Given the description of an element on the screen output the (x, y) to click on. 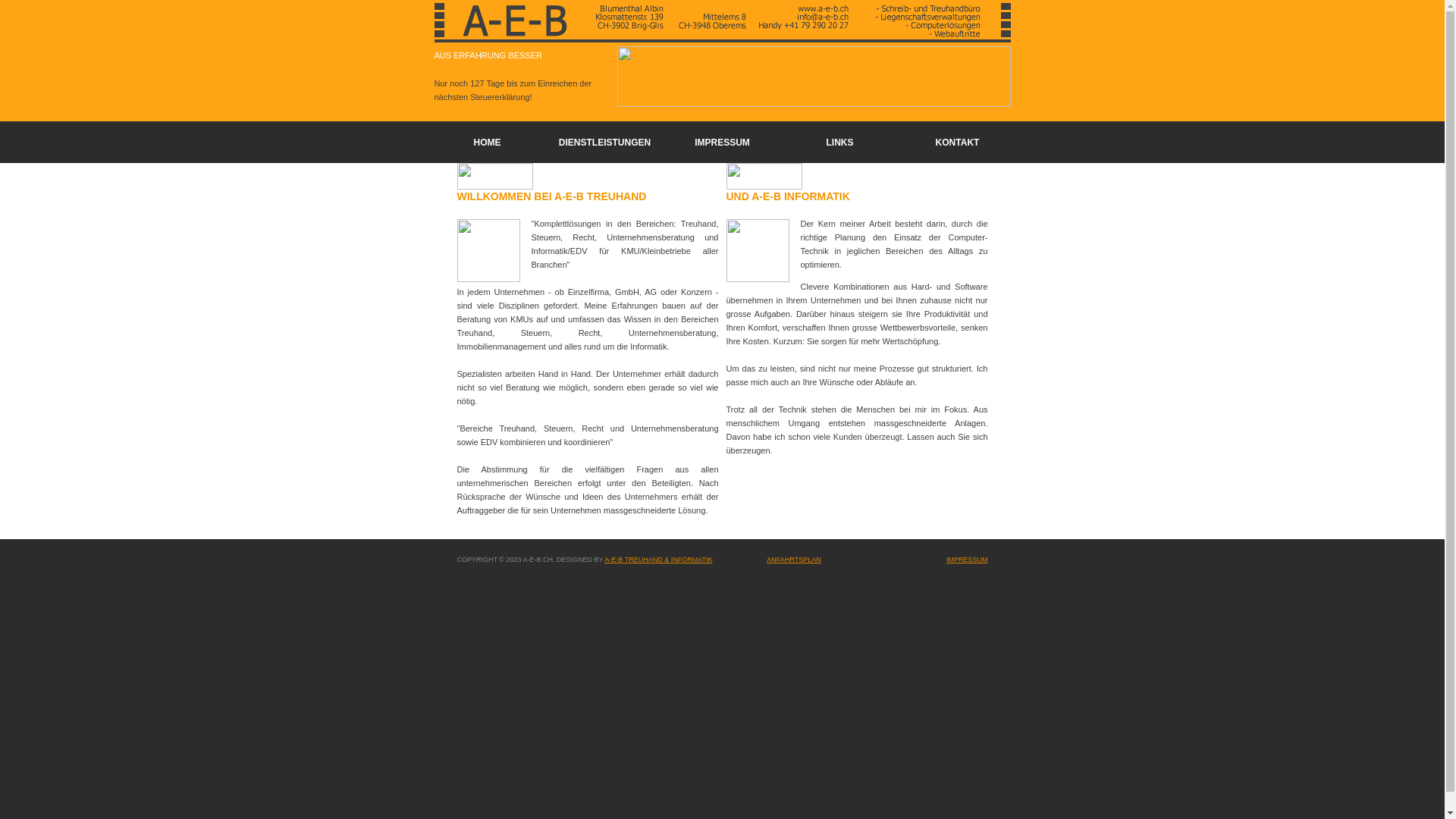
ANFAHRTSPLAN Element type: text (793, 559)
LINKS Element type: text (839, 141)
HOME Element type: text (486, 141)
A-E-B TREUHAND & INFORMATIK Element type: text (658, 559)
IMPRESSUM Element type: text (721, 141)
IMPRESSUM Element type: text (967, 559)
DIENSTLEISTUNGEN Element type: text (604, 141)
KONTAKT Element type: text (957, 141)
